Given the description of an element on the screen output the (x, y) to click on. 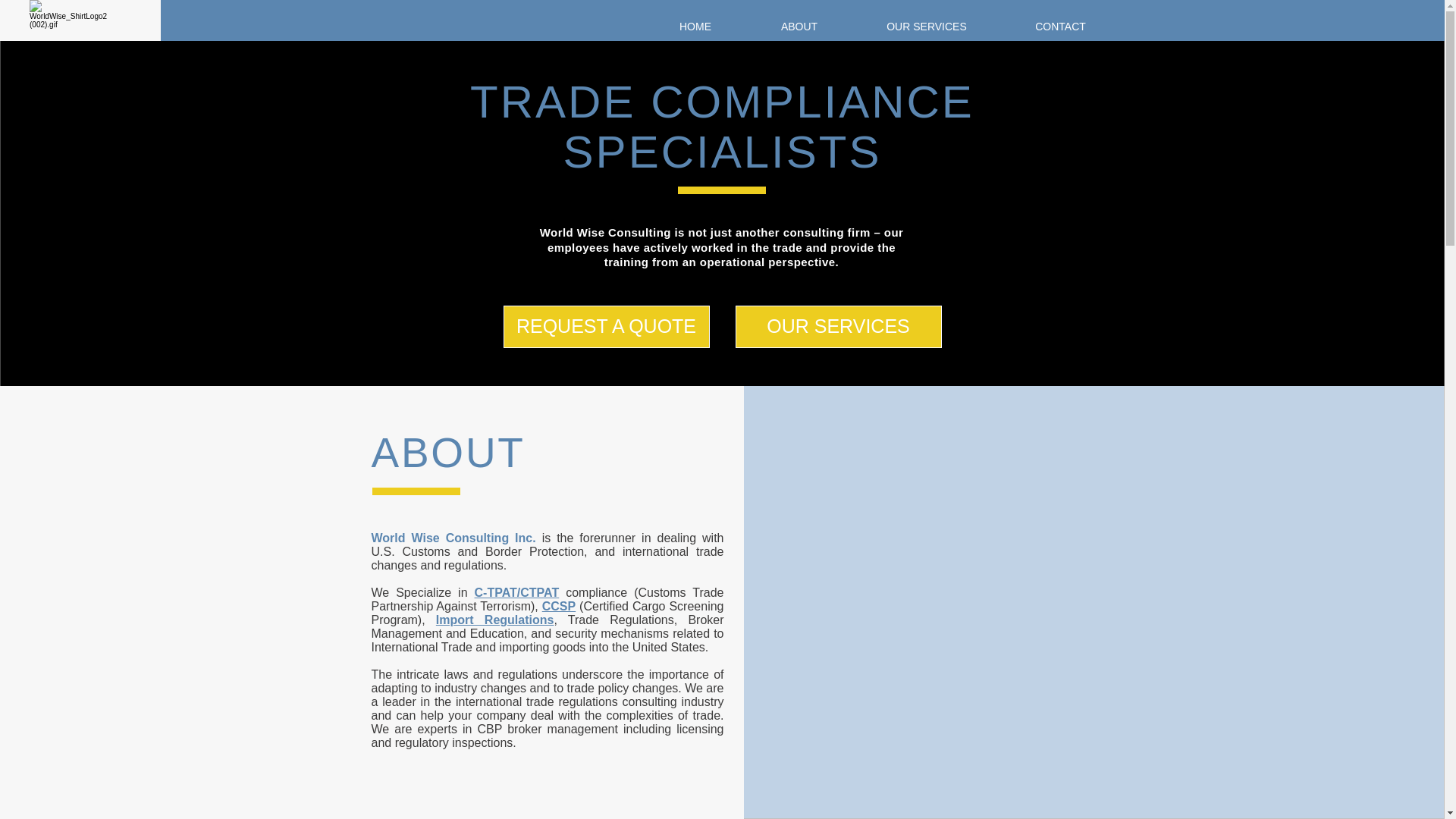
OUR SERVICES (925, 26)
REQUEST A QUOTE (606, 326)
ABOUT (799, 26)
HOME (695, 26)
OUR SERVICES (838, 326)
Import Regulations (494, 619)
CCSP (558, 605)
CONTACT (1061, 26)
